Given the description of an element on the screen output the (x, y) to click on. 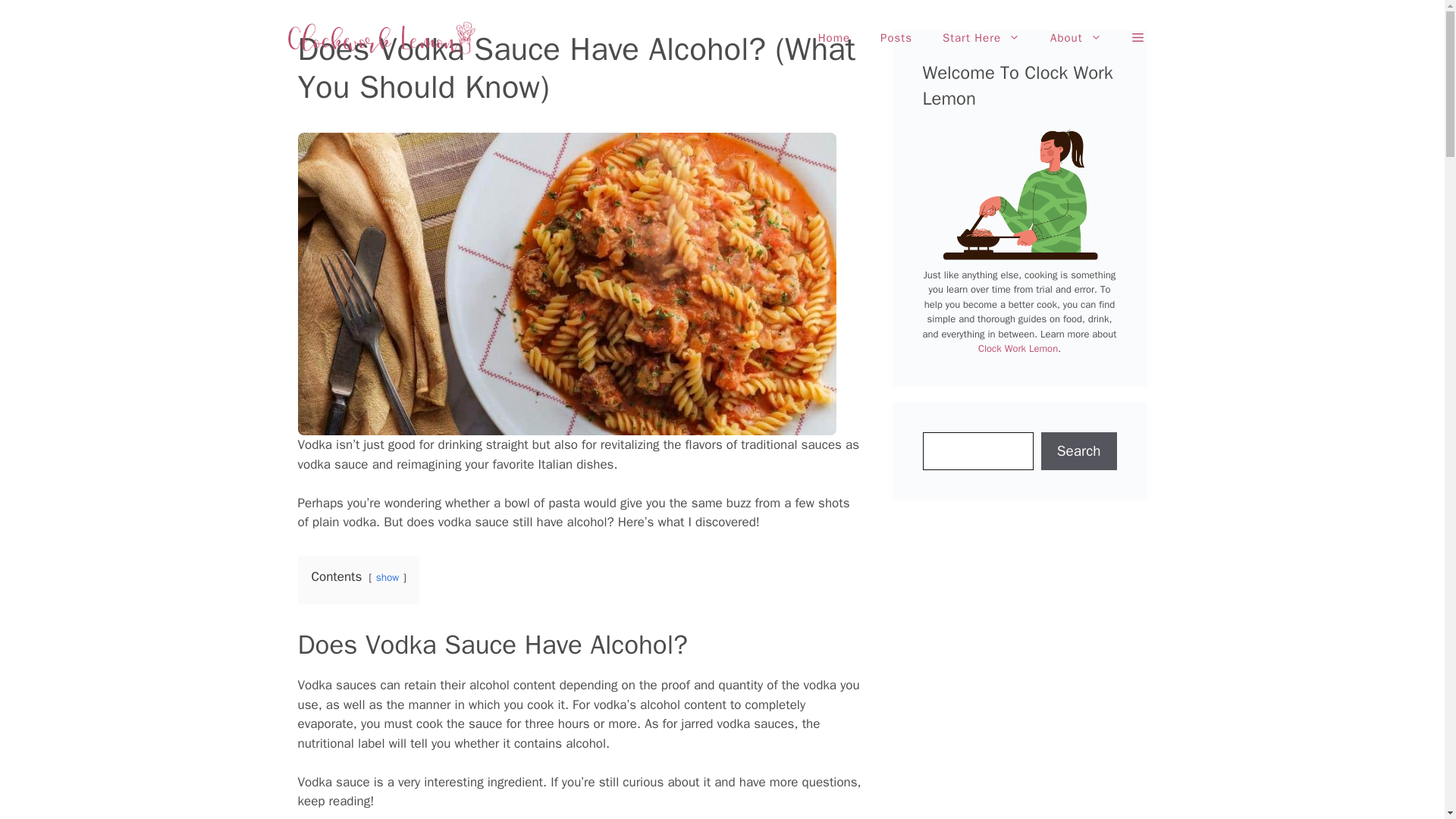
Clockwork Lemon (381, 36)
Clockwork Lemon (381, 37)
About (1075, 37)
Home (833, 37)
Start Here (981, 37)
show (386, 576)
Posts (895, 37)
